Given the description of an element on the screen output the (x, y) to click on. 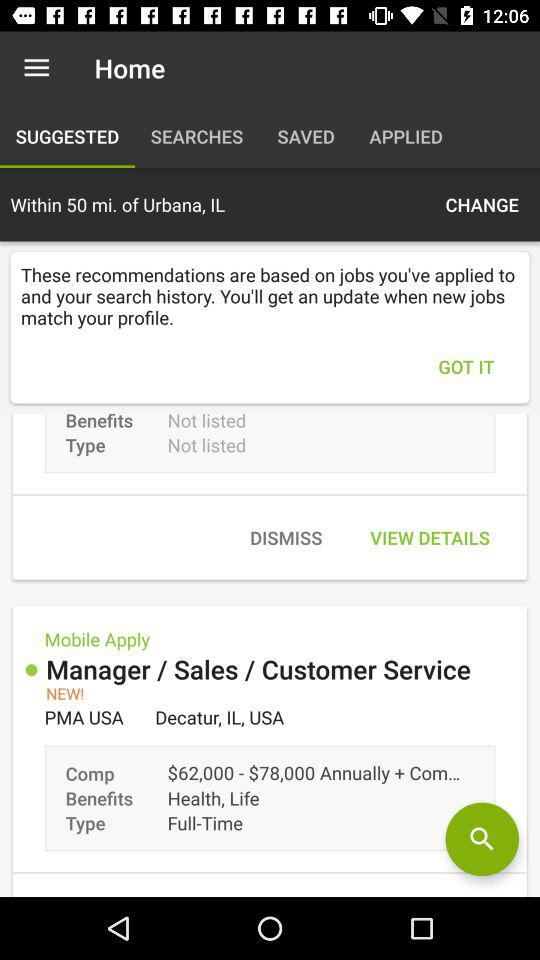
tap the icon above suggested icon (36, 68)
